Given the description of an element on the screen output the (x, y) to click on. 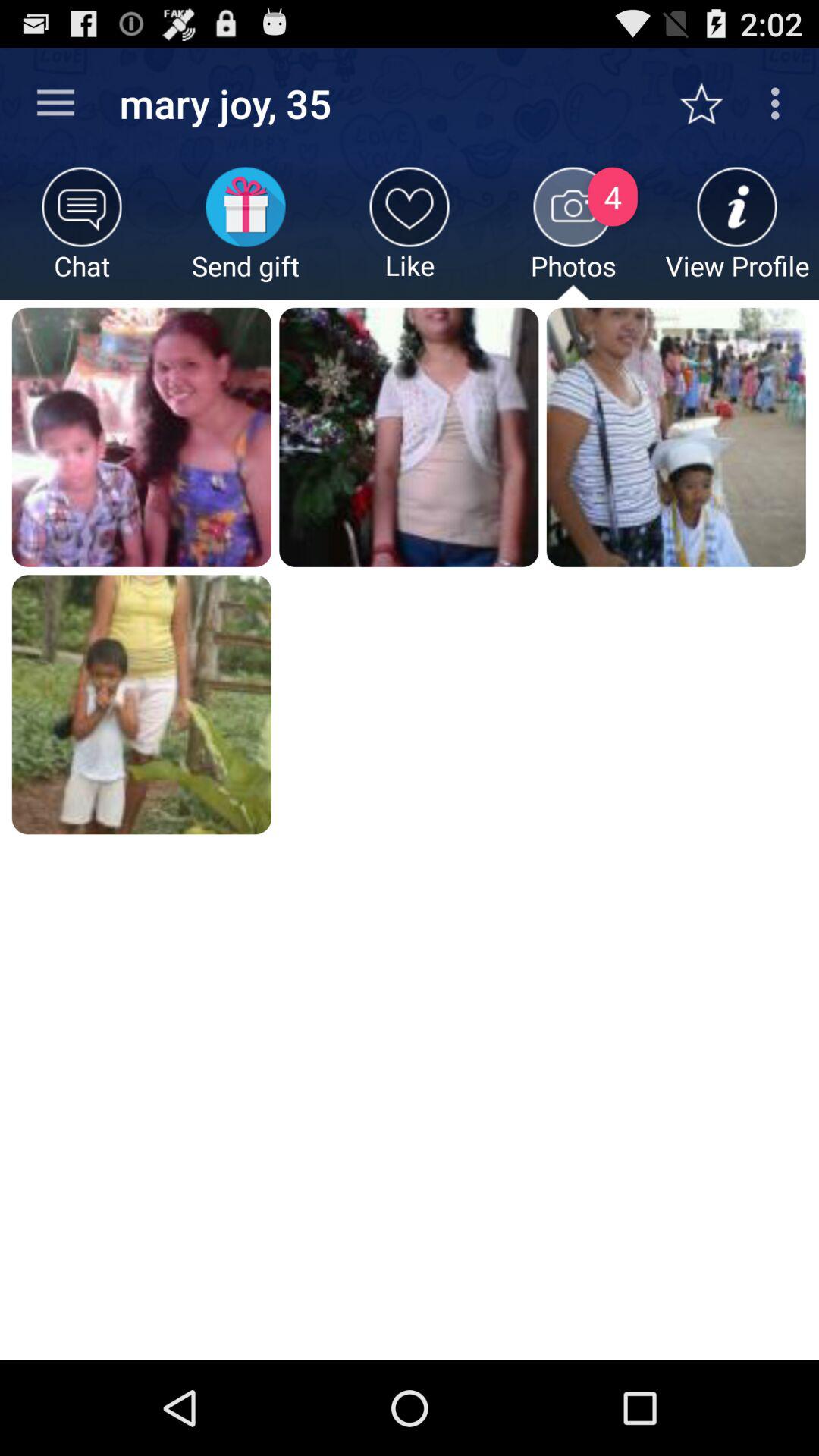
select chat (81, 233)
